Given the description of an element on the screen output the (x, y) to click on. 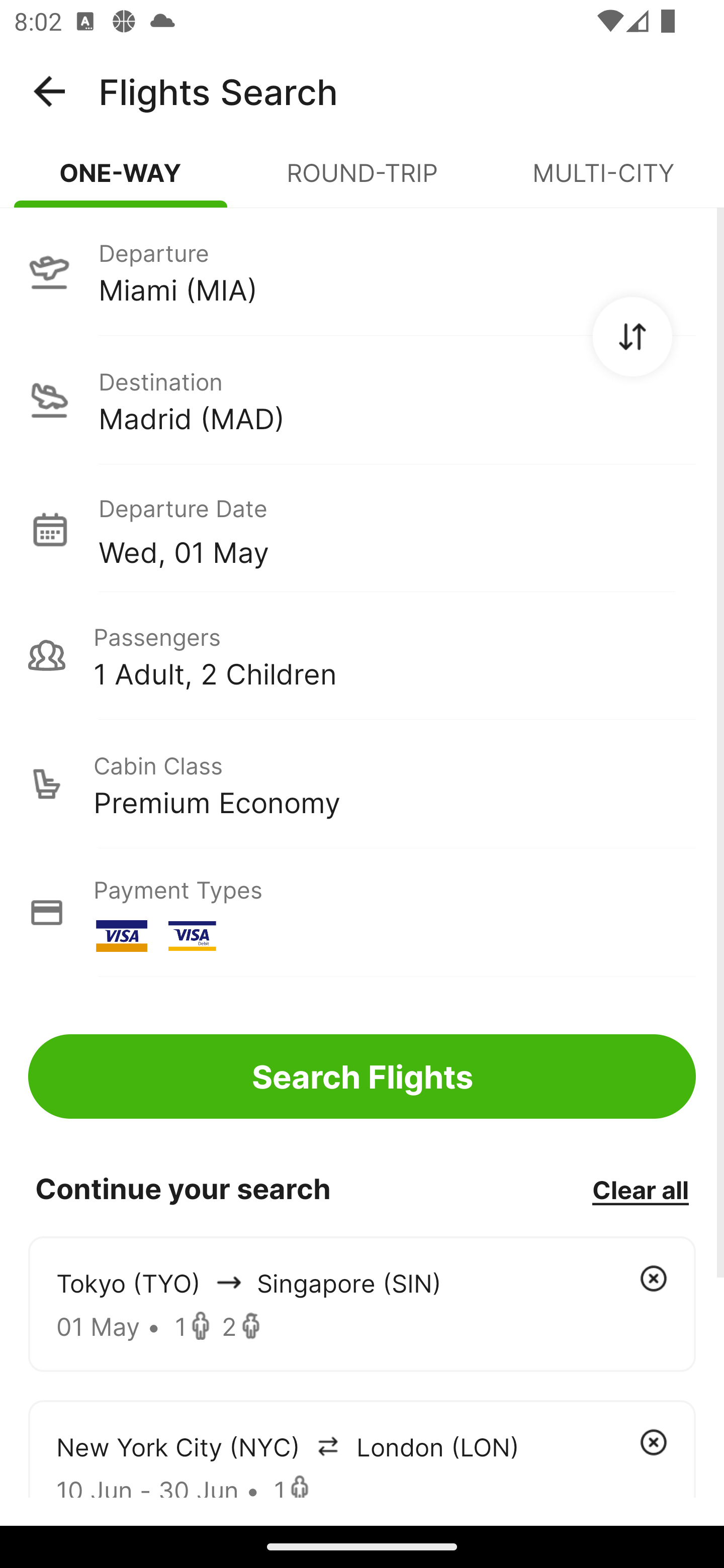
ONE-WAY (120, 180)
ROUND-TRIP (361, 180)
MULTI-CITY (603, 180)
Departure Miami (MIA) (362, 270)
Destination Madrid (MAD) (362, 400)
Departure Date Wed, 01 May (396, 528)
Passengers 1 Adult, 2 Children (362, 655)
Cabin Class Premium Economy (362, 783)
Payment Types (362, 912)
Search Flights (361, 1075)
Clear all (640, 1189)
